Given the description of an element on the screen output the (x, y) to click on. 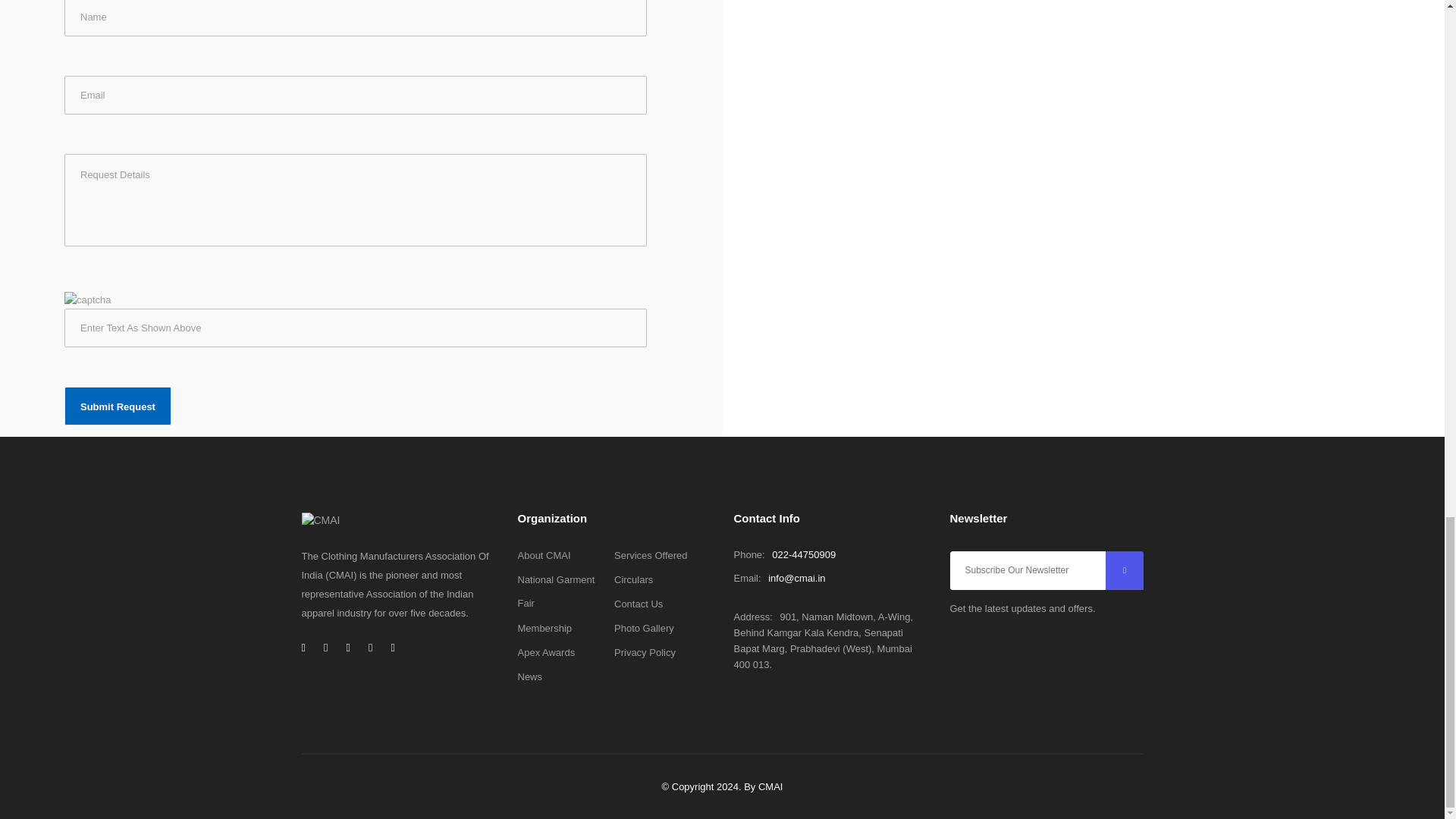
Submit Request (117, 405)
CMAI (770, 786)
